Given the description of an element on the screen output the (x, y) to click on. 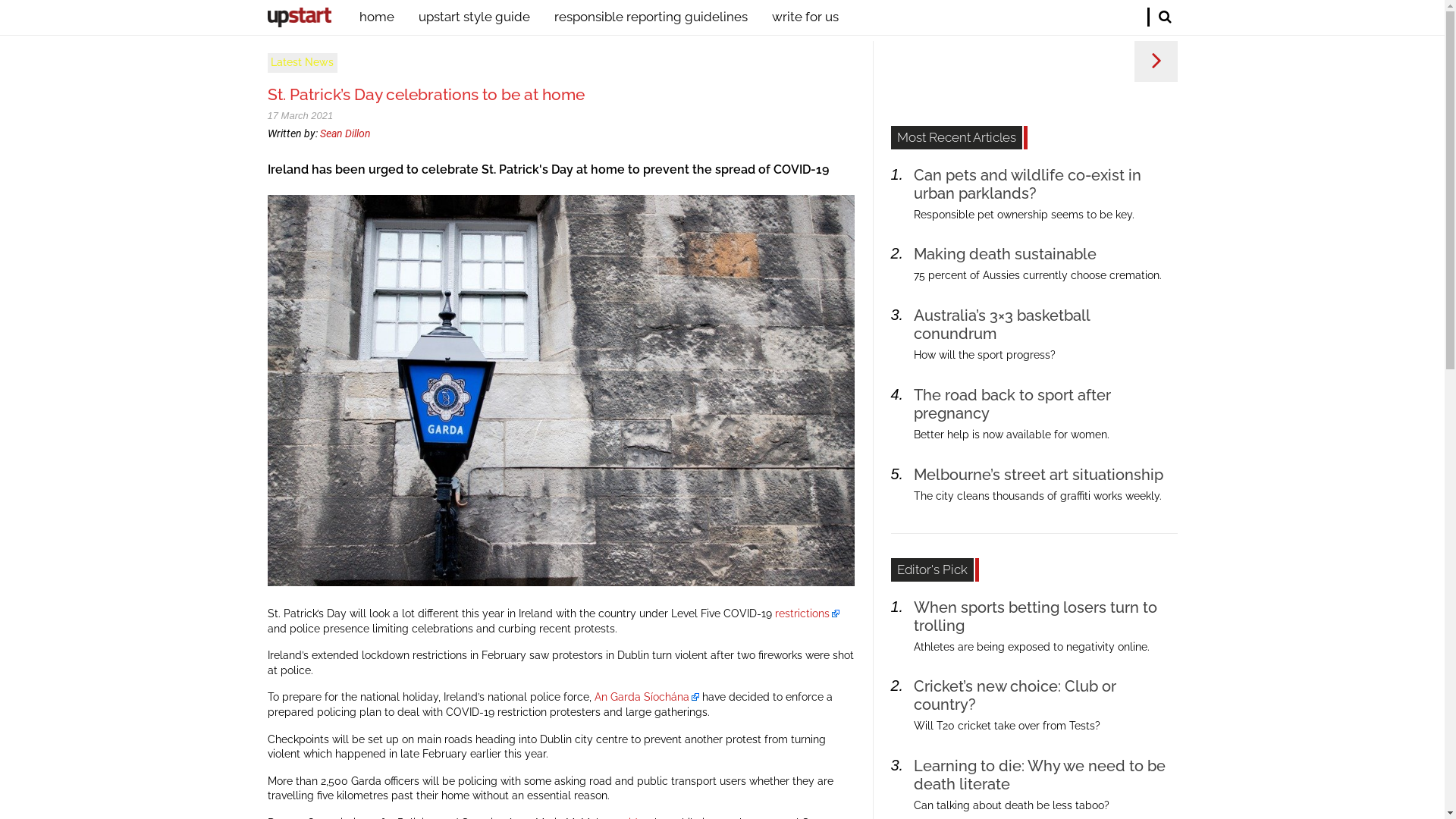
home Element type: text (382, 20)
upstart style guide Element type: text (474, 20)
upstart Element type: hover (298, 17)
The road back to sport after pregnancy Element type: text (1011, 403)
Learning to die: Why we need to be death literate Element type: text (1039, 774)
write for us Element type: text (798, 20)
When sports betting losers turn to trolling Element type: text (1035, 616)
Can pets and wildlife co-exist in urban parklands? Element type: text (1027, 184)
responsible reporting guidelines Element type: text (650, 20)
restrictions Element type: text (807, 613)
Latest News Element type: text (301, 62)
Making death sustainable Element type: text (1004, 253)
Sean Dillon Element type: text (345, 133)
